Given the description of an element on the screen output the (x, y) to click on. 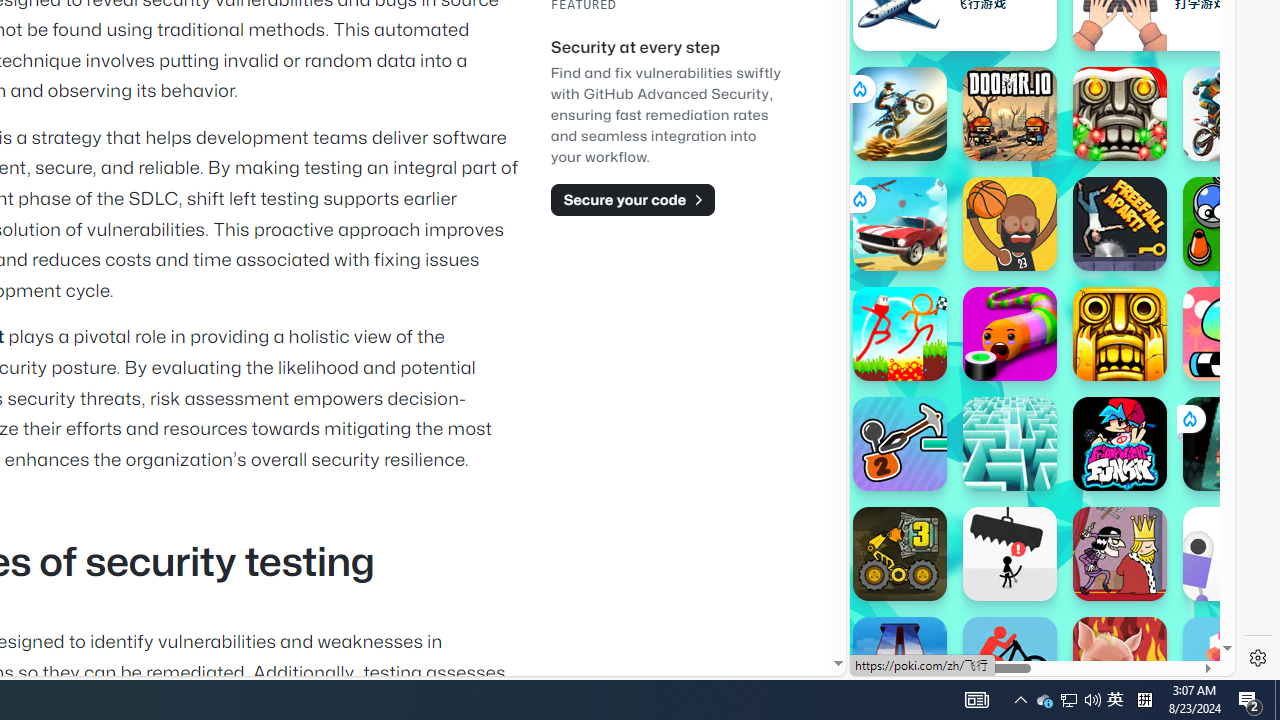
Combat Reloaded (1092, 300)
Freefall Apart Freefall Apart (1119, 223)
BoxRob 3 (899, 553)
Crossy Road Crossy Road (1229, 664)
Stunt Bike Extreme (899, 113)
Blumgi Slime (1229, 333)
Combat Reloaded (1092, 200)
Combat Reloaded Combat Reloaded poki.com (1092, 245)
Goal Training Goal Training (1229, 223)
Temple Run 2: Frozen Festival Temple Run 2: Frozen Festival (1119, 113)
Temple Run 2 (1119, 333)
Iron Snout Iron Snout (1119, 664)
Sushi Party (1009, 333)
Odd Bot Out (1229, 553)
Big Tower Tiny Square 2 (899, 664)
